Given the description of an element on the screen output the (x, y) to click on. 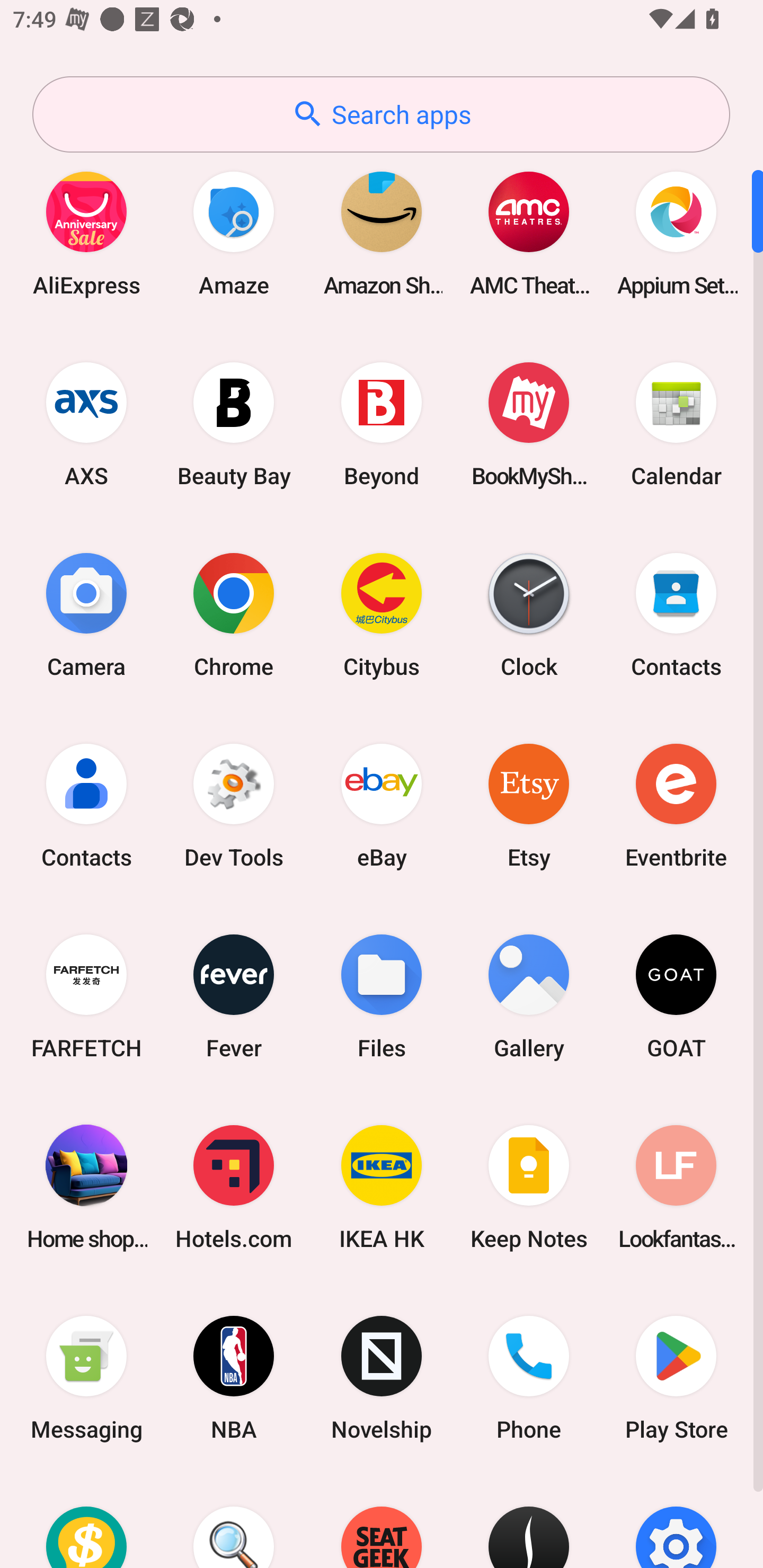
  Search apps (381, 114)
AliExpress (86, 233)
Amaze (233, 233)
Amazon Shopping (381, 233)
AMC Theatres (528, 233)
Appium Settings (676, 233)
AXS (86, 424)
Beauty Bay (233, 424)
Beyond (381, 424)
BookMyShow (528, 424)
Calendar (676, 424)
Camera (86, 614)
Chrome (233, 614)
Citybus (381, 614)
Clock (528, 614)
Contacts (676, 614)
Contacts (86, 805)
Dev Tools (233, 805)
eBay (381, 805)
Etsy (528, 805)
Eventbrite (676, 805)
FARFETCH (86, 996)
Fever (233, 996)
Files (381, 996)
Gallery (528, 996)
GOAT (676, 996)
Home shopping (86, 1186)
Hotels.com (233, 1186)
IKEA HK (381, 1186)
Keep Notes (528, 1186)
Lookfantastic (676, 1186)
Messaging (86, 1377)
NBA (233, 1377)
Novelship (381, 1377)
Phone (528, 1377)
Play Store (676, 1377)
